Given the description of an element on the screen output the (x, y) to click on. 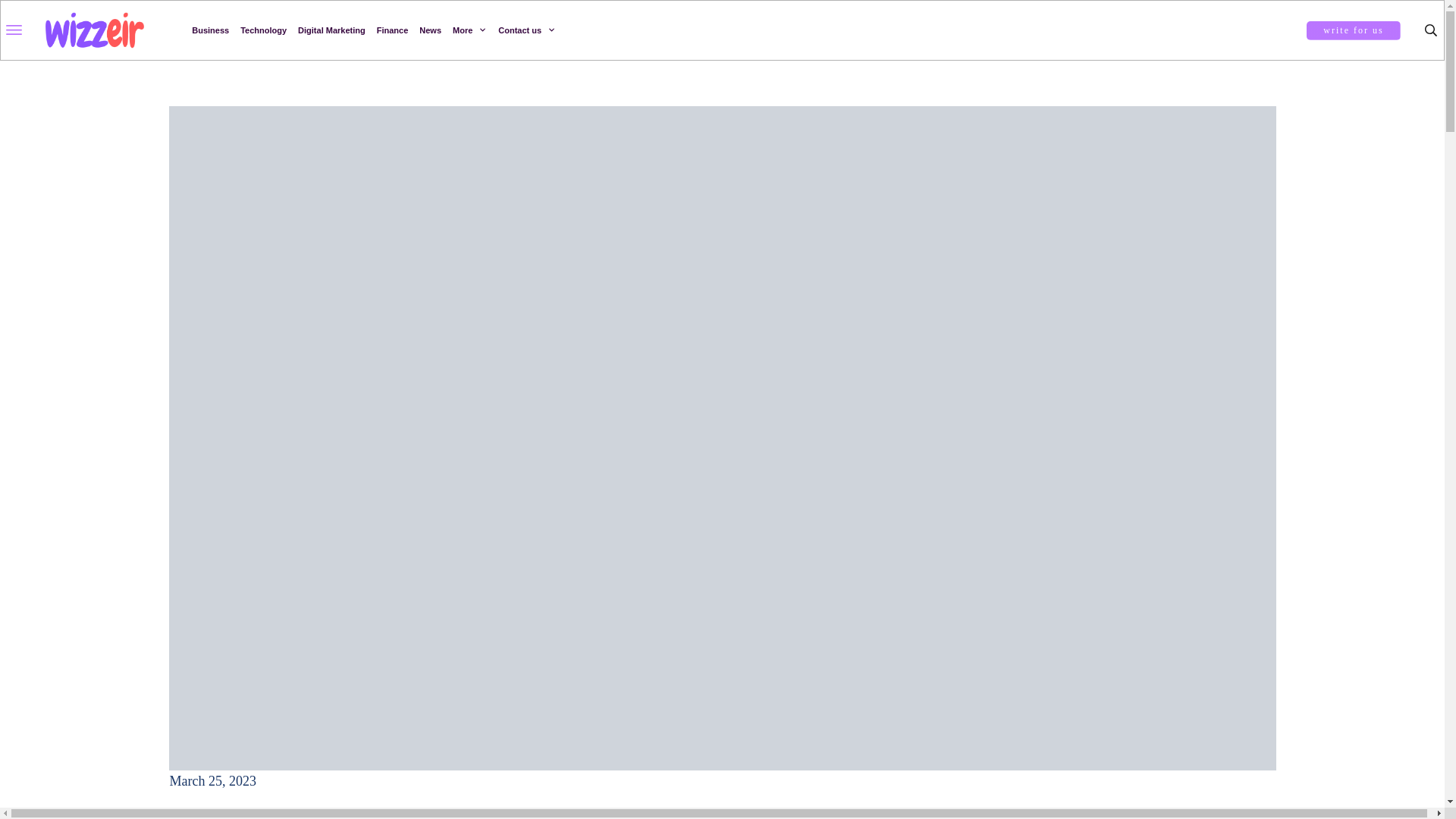
More (469, 30)
write for us (1352, 30)
Technology (263, 30)
Digital Marketing (331, 30)
Contact us (526, 30)
Business (210, 30)
News (430, 30)
Finance (393, 30)
